Given the description of an element on the screen output the (x, y) to click on. 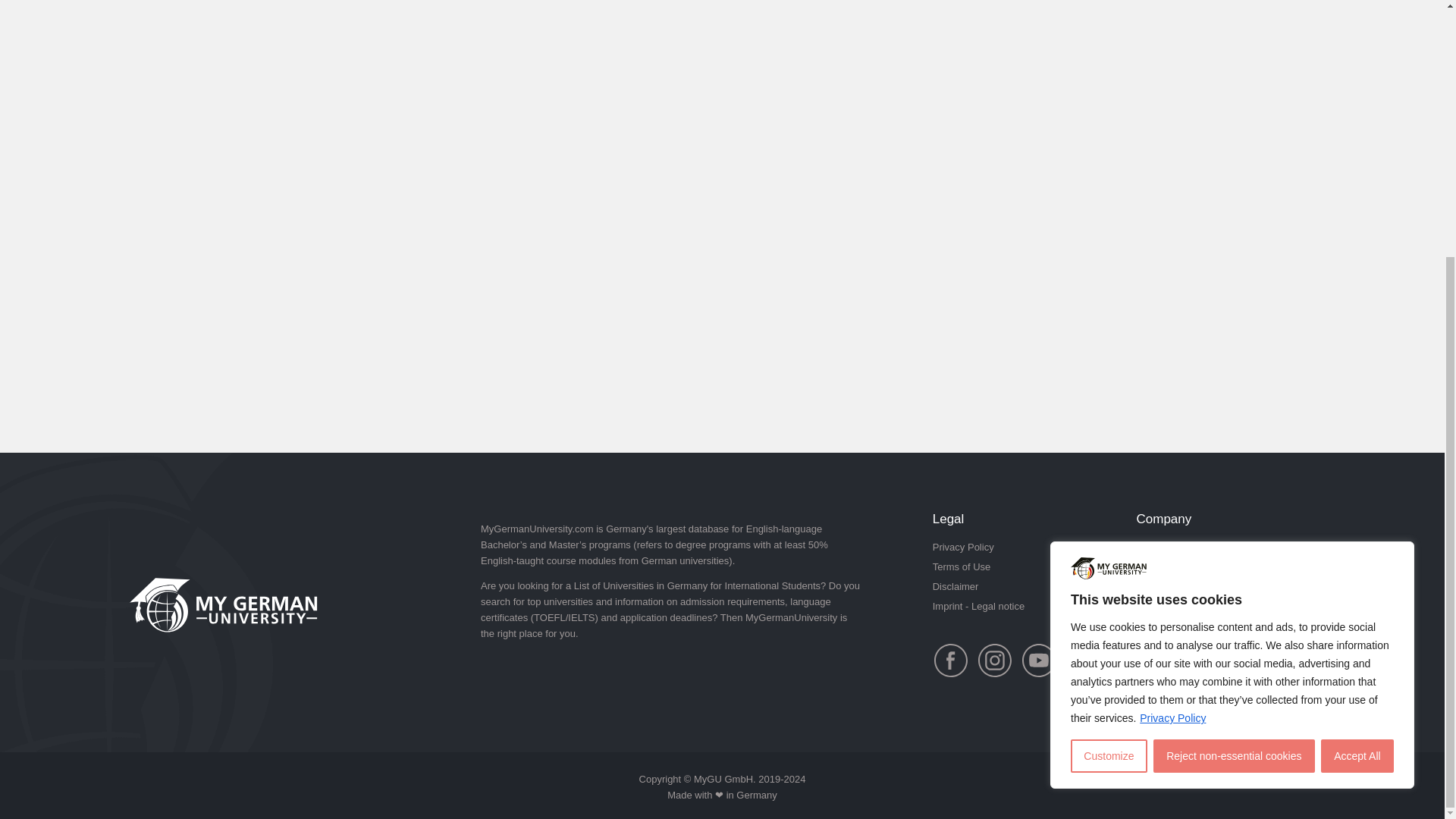
Customize (1108, 389)
Media (1148, 566)
Privacy Policy (963, 546)
Privacy Policy (1172, 351)
Terms of Use (962, 566)
Reject non-essential cookies (1233, 389)
Disclaimer (955, 586)
Accept All (1356, 389)
About Us (1155, 546)
Marketing services for German Universities (1203, 594)
